Given the description of an element on the screen output the (x, y) to click on. 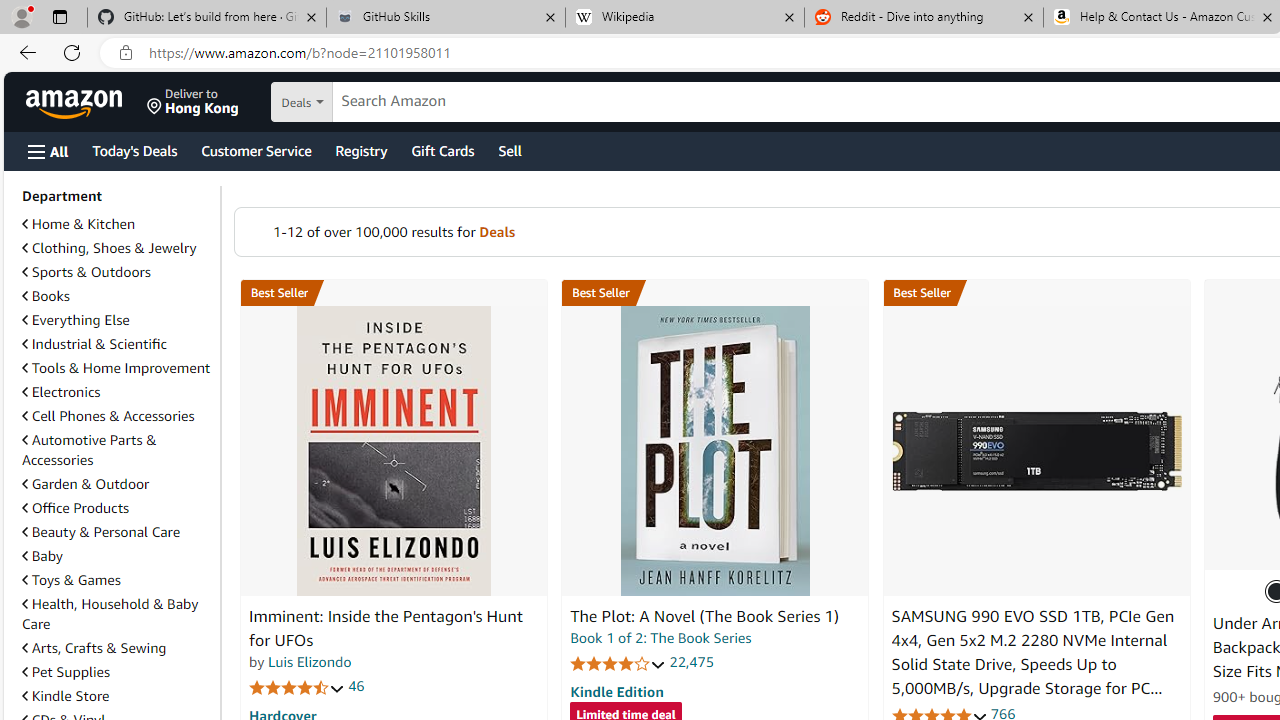
Baby (41, 556)
Cell Phones & Accessories (107, 415)
Toys & Games (117, 579)
Everything Else (75, 320)
Home & Kitchen (117, 223)
4.2 out of 5 stars (617, 663)
Best Seller in Unexplained Mysteries (393, 293)
Garden & Outdoor (85, 484)
46 (356, 686)
Today's Deals (134, 150)
Industrial & Scientific (117, 344)
